Given the description of an element on the screen output the (x, y) to click on. 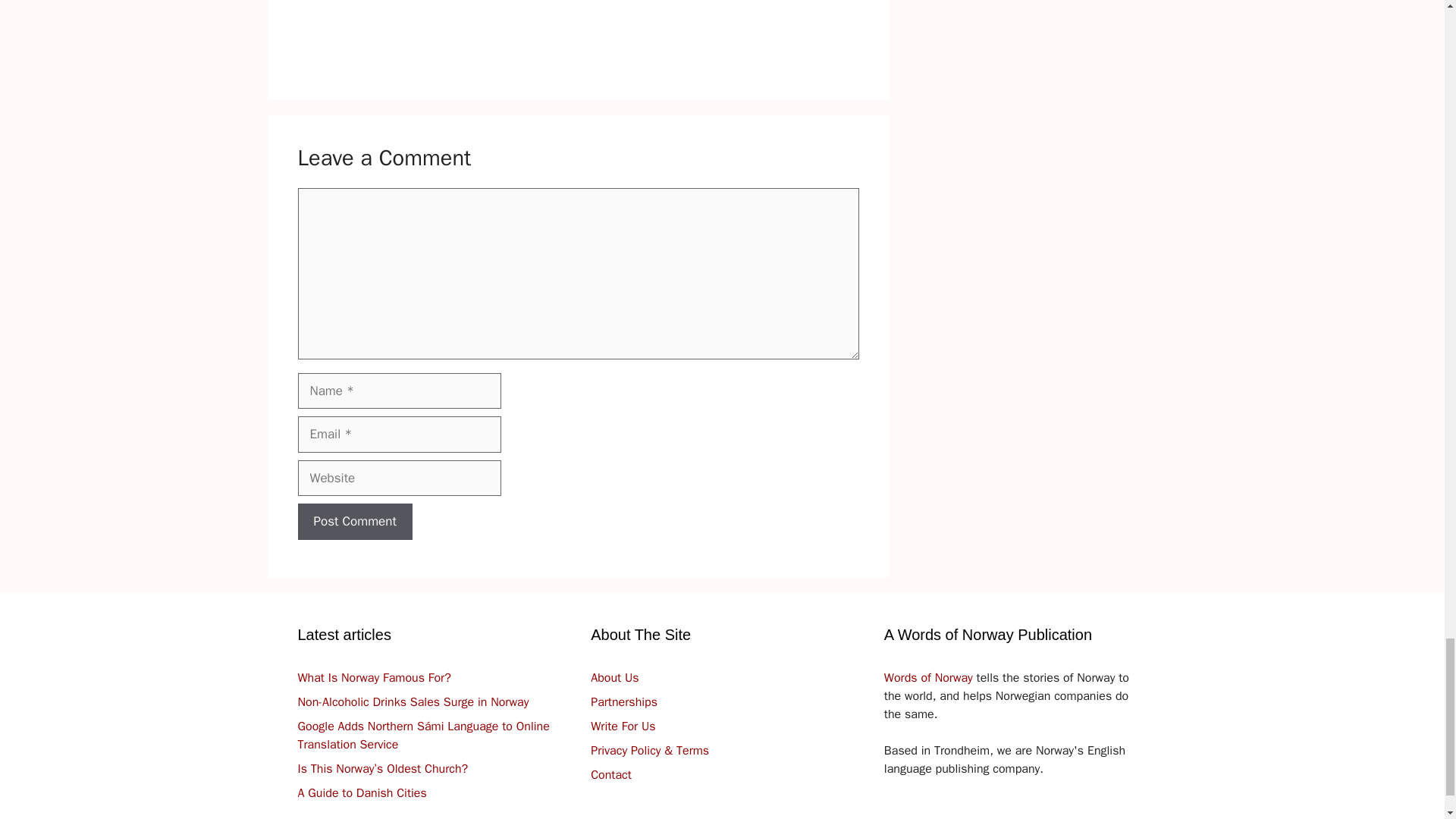
Post Comment (354, 521)
